Given the description of an element on the screen output the (x, y) to click on. 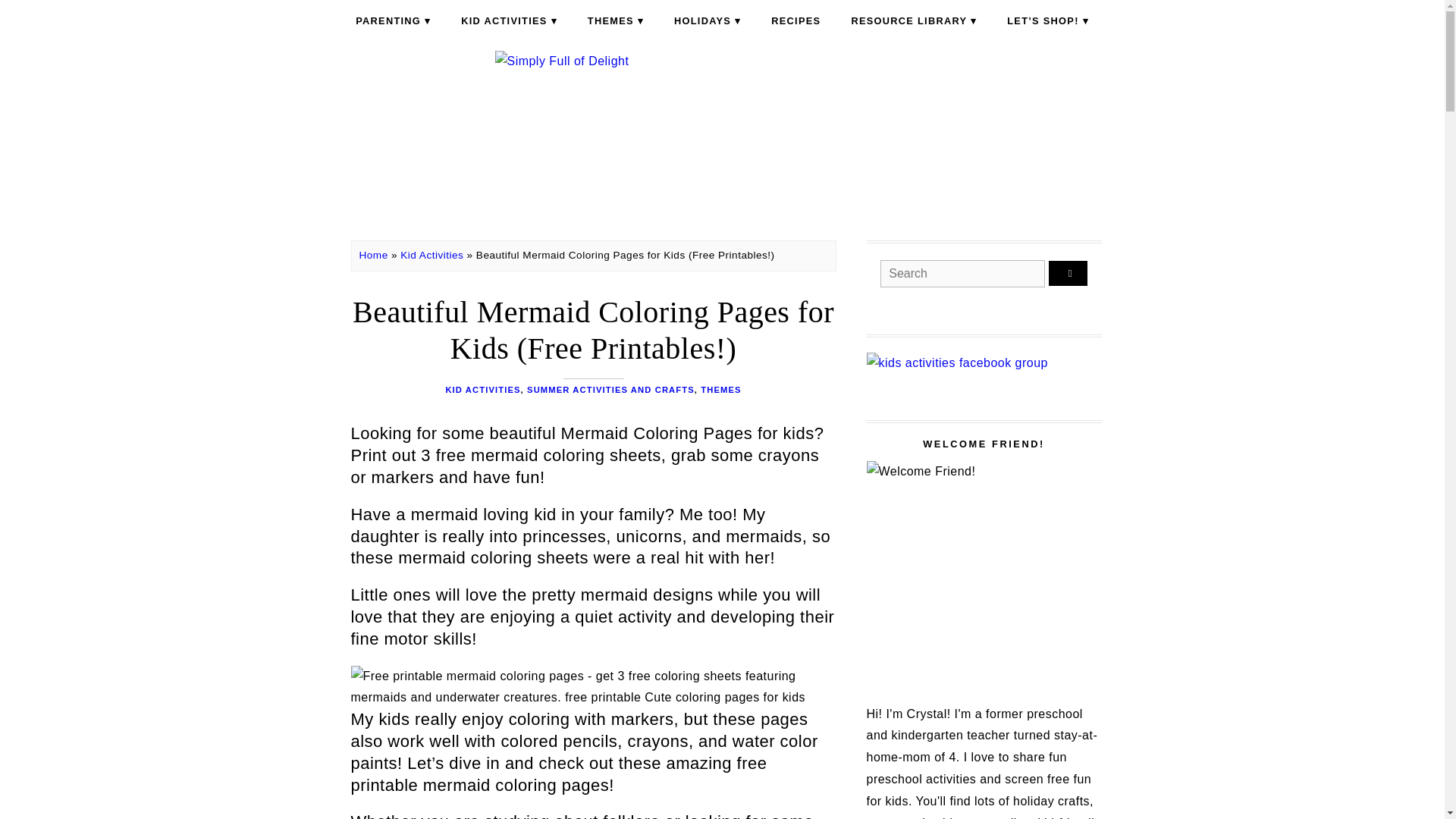
RESOURCE LIBRARY (913, 21)
RECIPES (795, 21)
Home (373, 255)
THEMES (615, 21)
KID ACTIVITIES (508, 21)
HOLIDAYS (707, 21)
Search (1067, 273)
Kid Activities (431, 255)
PARENTING (392, 21)
